Given the description of an element on the screen output the (x, y) to click on. 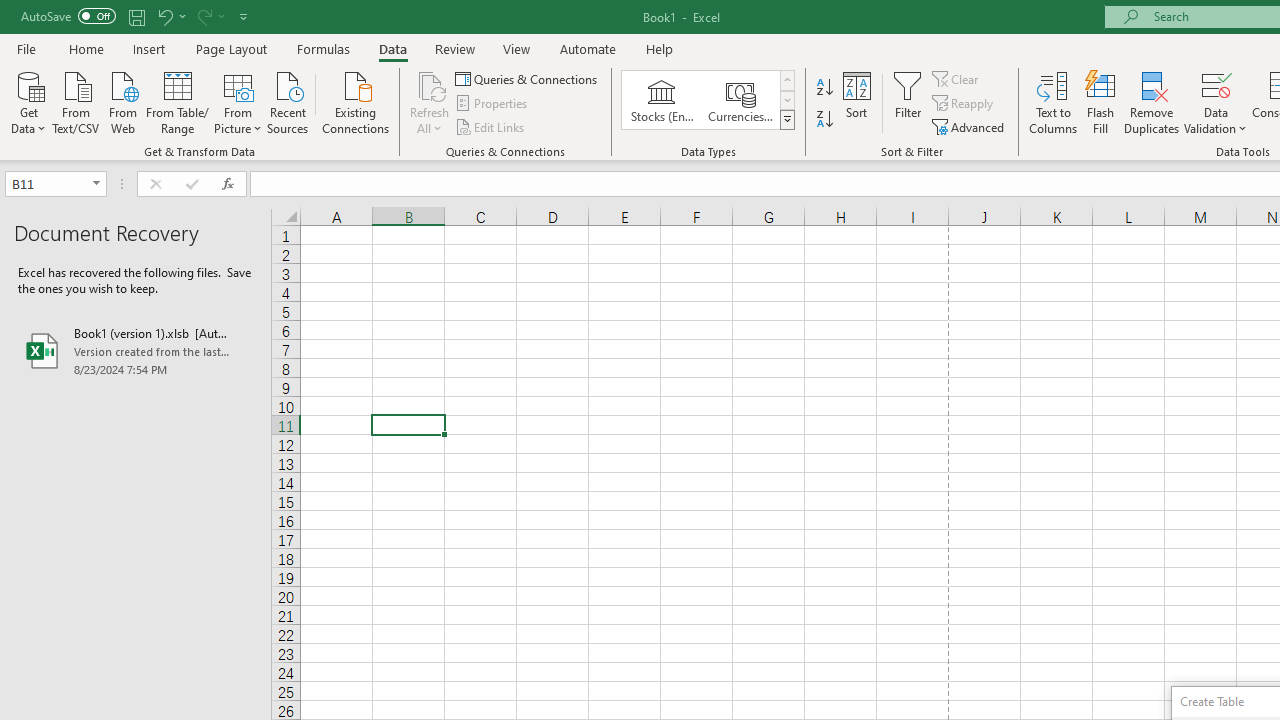
Text to Columns... (1053, 102)
Currencies (English) (740, 100)
AutomationID: ConvertToLinkedEntity (708, 99)
Properties (492, 103)
Data Validation... (1215, 102)
Reapply (964, 103)
